Given the description of an element on the screen output the (x, y) to click on. 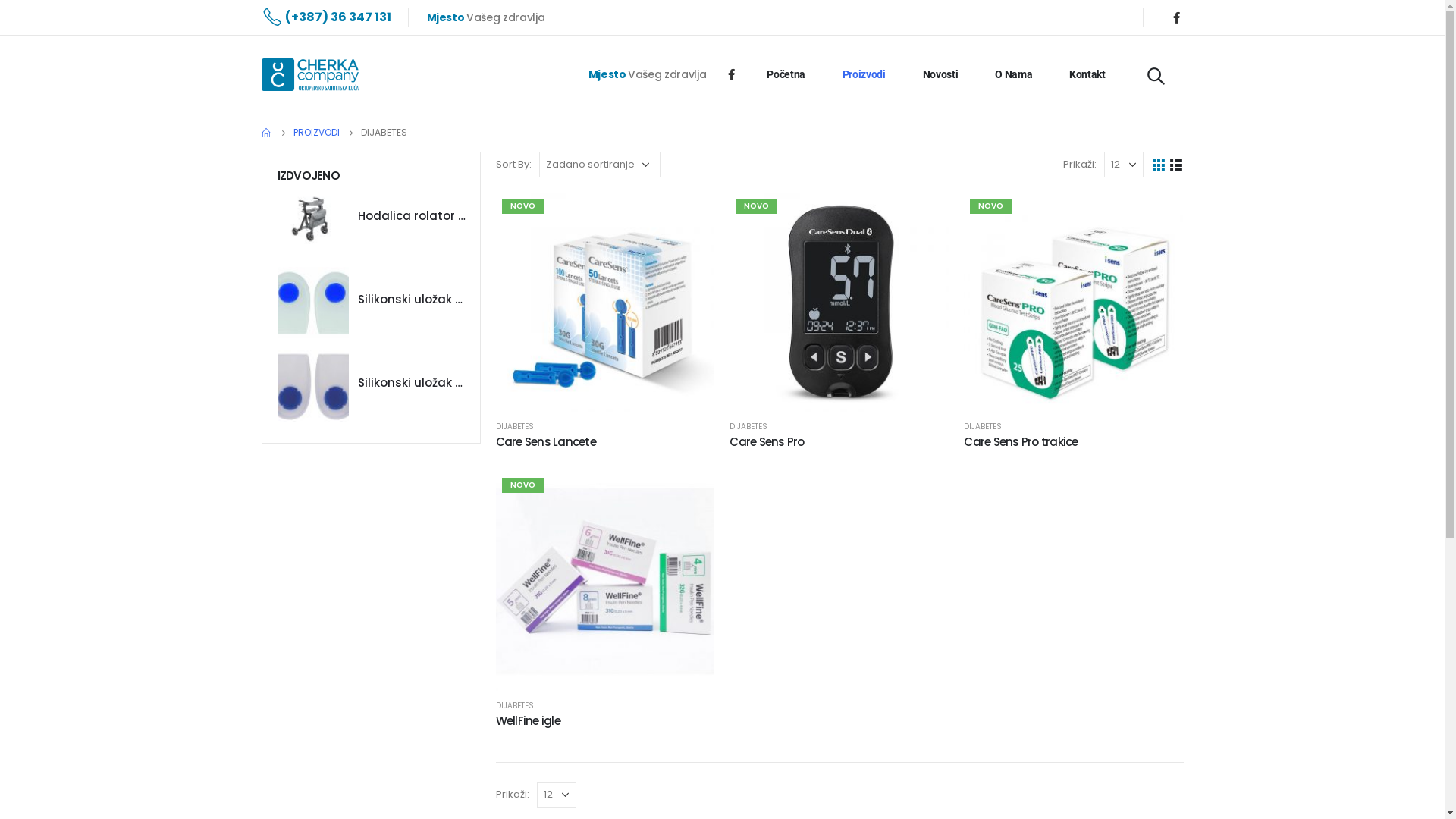
NOVO Element type: text (605, 580)
WellFine igle Element type: text (605, 720)
PROIZVODI Element type: text (315, 132)
Novosti Element type: text (940, 74)
List View Element type: hover (1175, 163)
(+387) 36 347 131 Element type: text (326, 17)
Facebook Element type: hover (1175, 17)
Proizvodi Element type: text (863, 74)
DIJABETES Element type: text (514, 426)
O Nama Element type: text (1013, 74)
Care Sens Pro trakice Element type: text (1073, 441)
Kontakt Element type: text (1087, 74)
Facebook Element type: hover (730, 73)
DIJABETES Element type: text (748, 426)
Go to Home Page Element type: hover (265, 132)
NOVO Element type: text (605, 301)
Care Sens Pro Element type: text (838, 441)
DIJABETES Element type: text (514, 705)
Grid View Element type: hover (1158, 163)
Care Sens Lancete Element type: text (605, 441)
DIJABETES Element type: text (982, 426)
NOVO Element type: text (838, 301)
NOVO Element type: text (1073, 301)
